Given the description of an element on the screen output the (x, y) to click on. 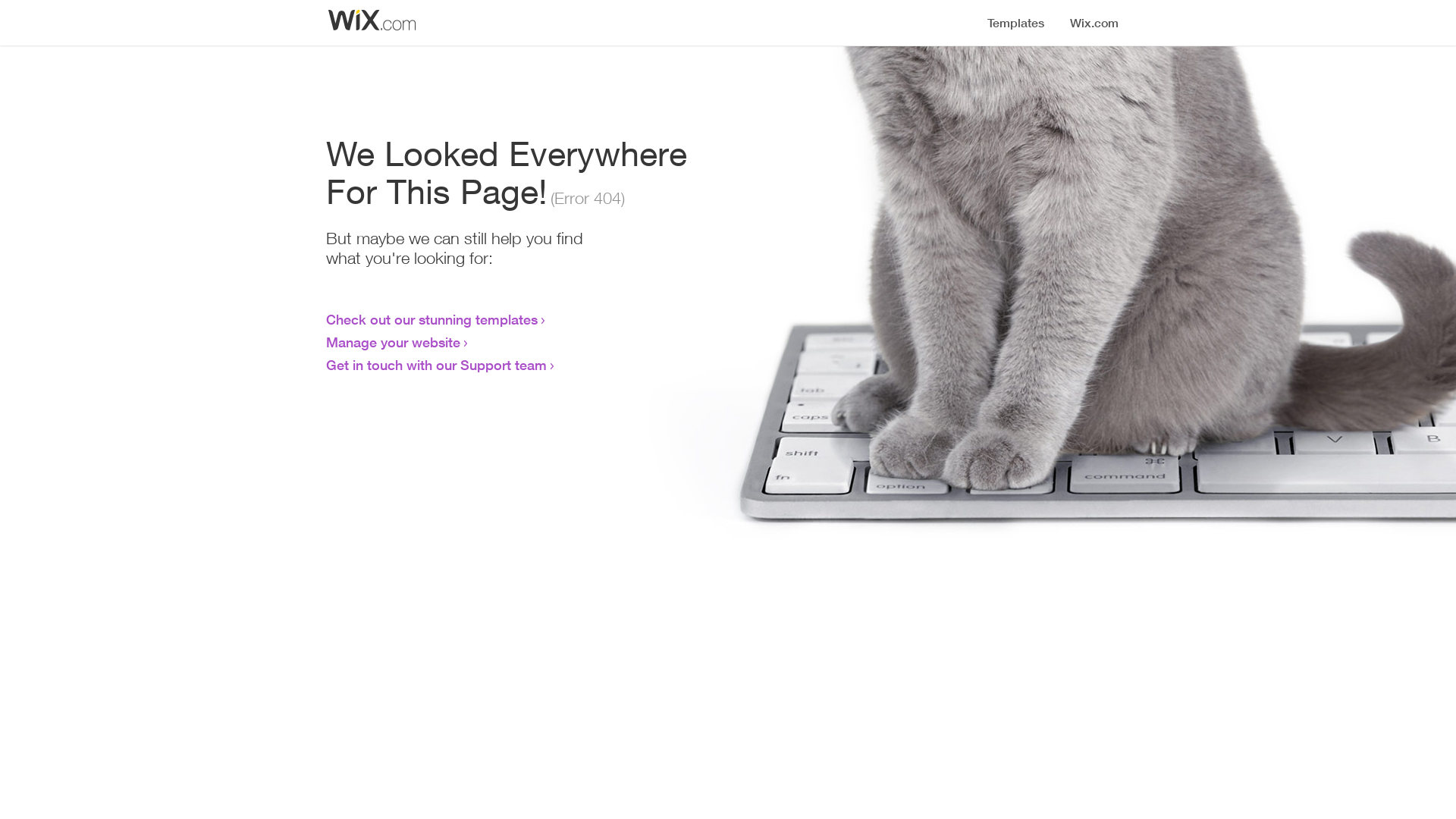
Get in touch with our Support team Element type: text (436, 364)
Check out our stunning templates Element type: text (431, 318)
Manage your website Element type: text (393, 341)
